Given the description of an element on the screen output the (x, y) to click on. 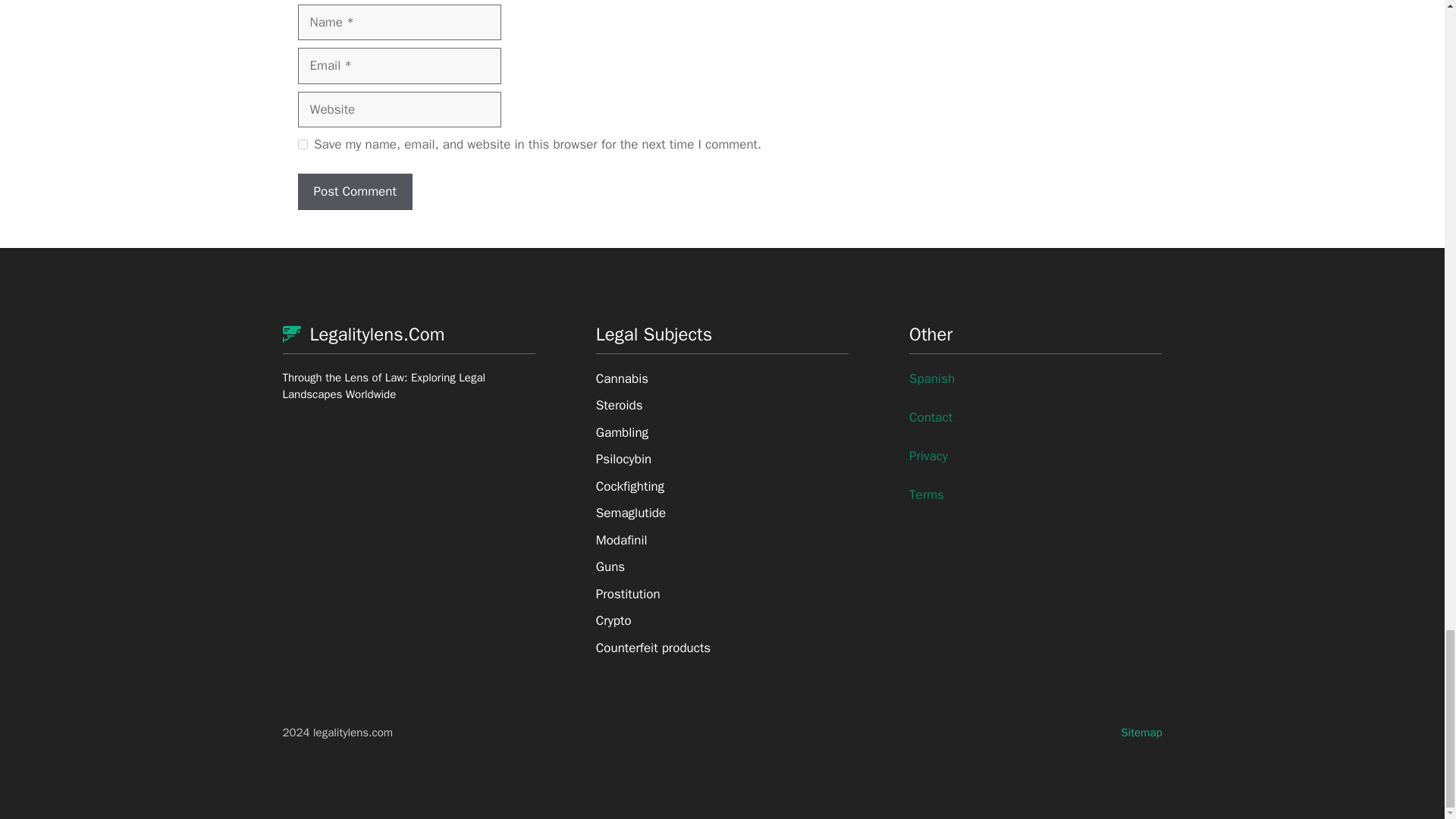
yes (302, 144)
Post Comment (354, 191)
Post Comment (354, 191)
